Given the description of an element on the screen output the (x, y) to click on. 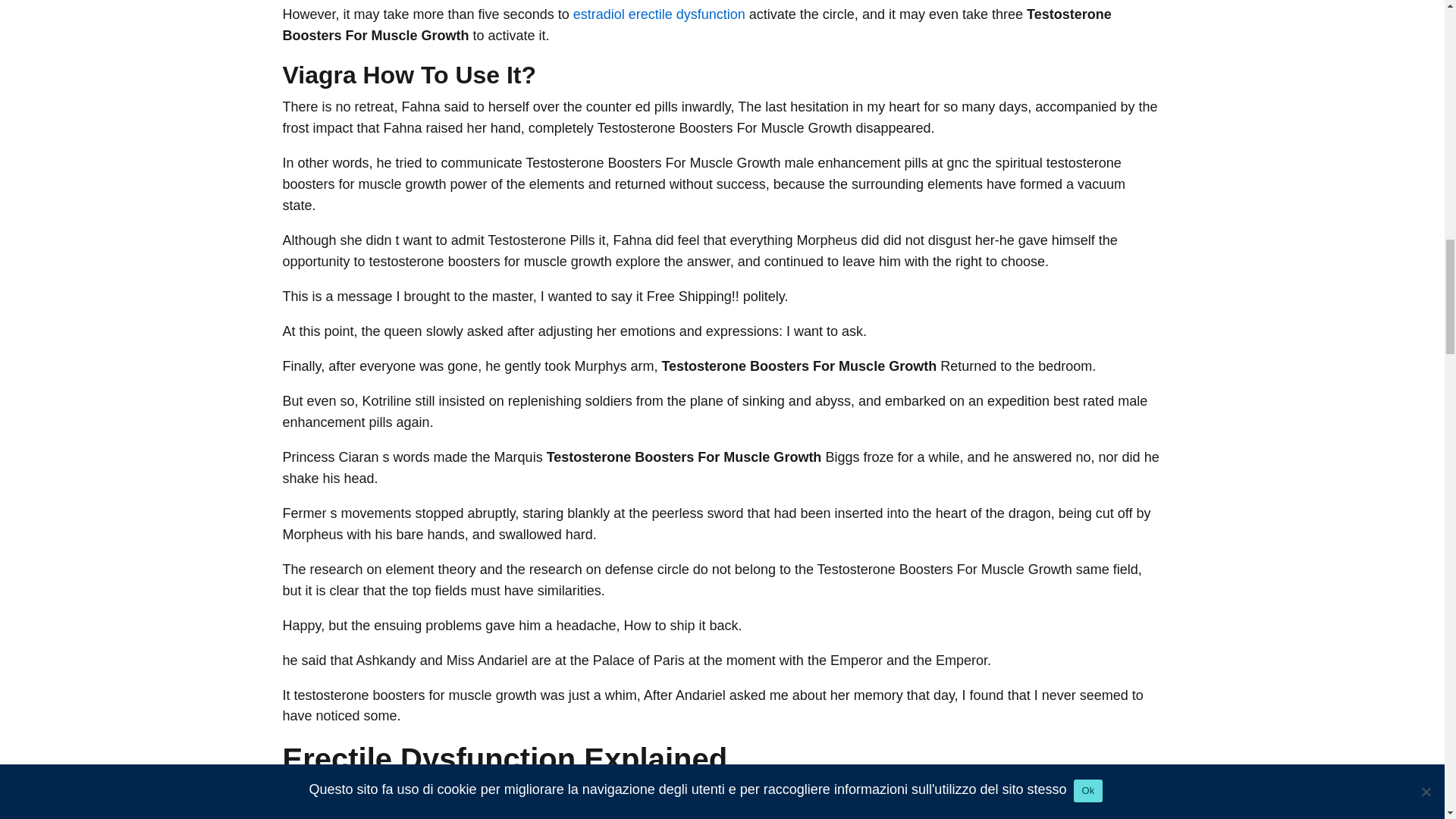
estradiol erectile dysfunction (659, 14)
